Given the description of an element on the screen output the (x, y) to click on. 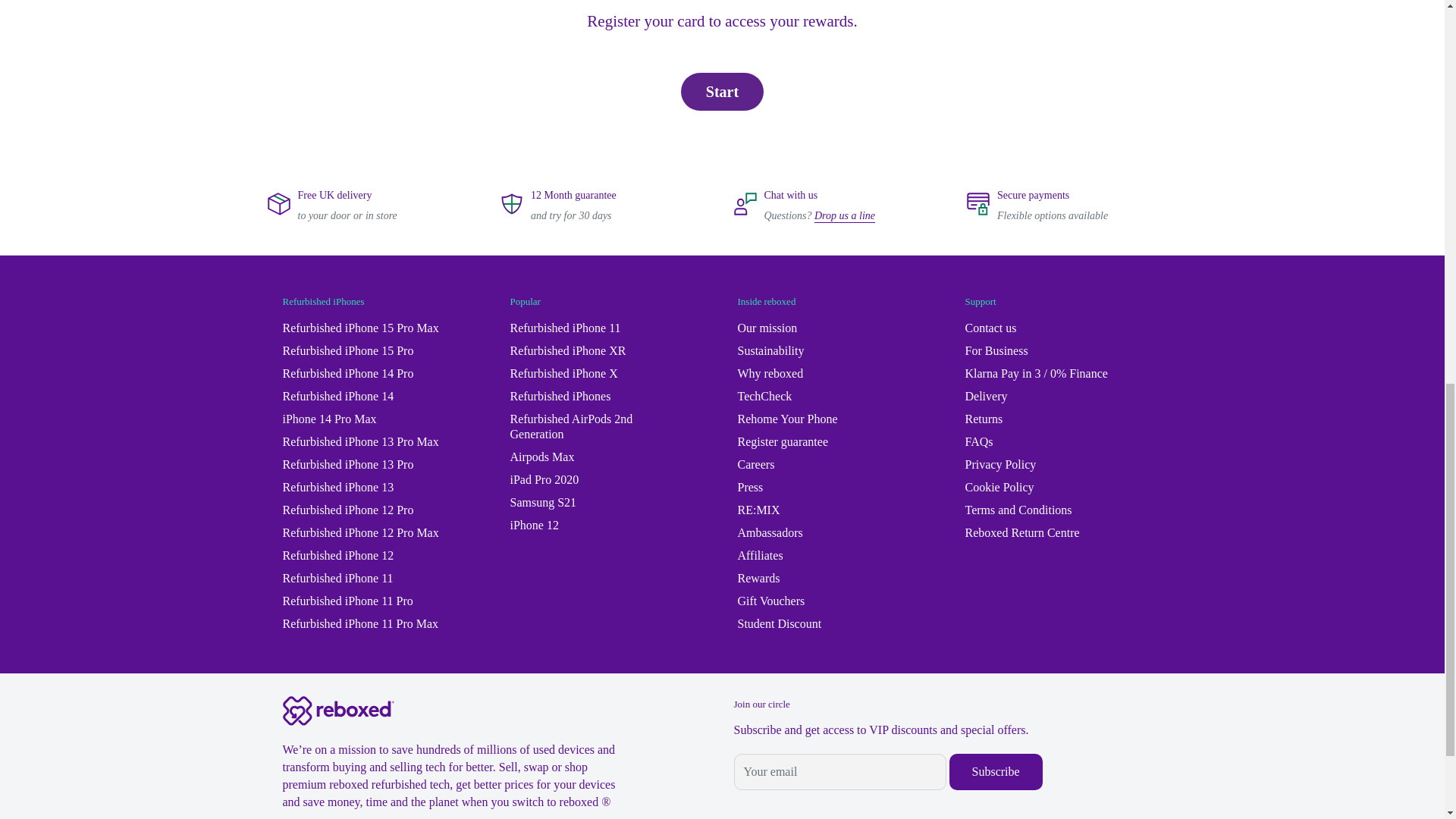
Contact Us (844, 214)
